Given the description of an element on the screen output the (x, y) to click on. 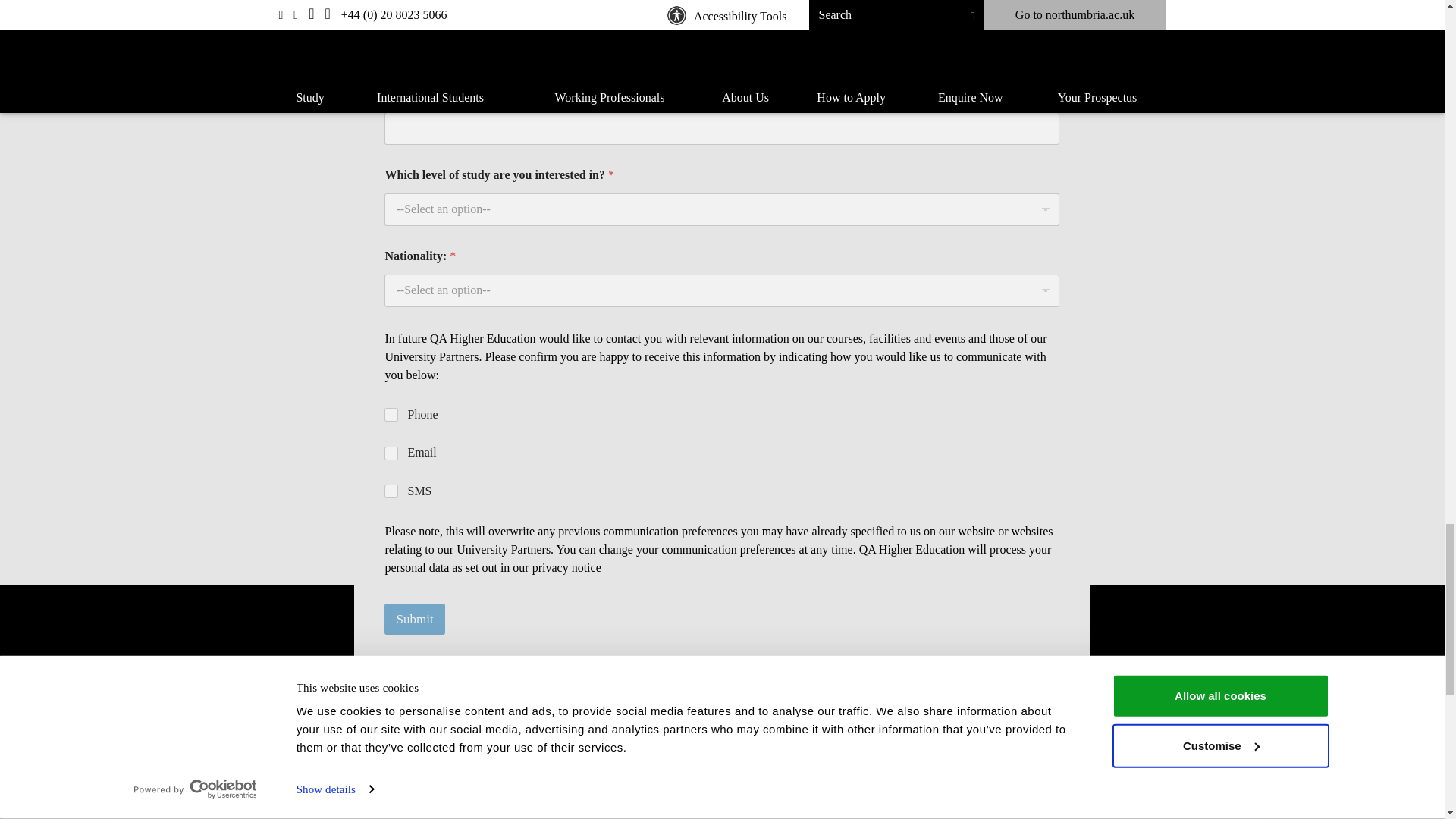
Phone (391, 415)
Email (391, 453)
SMS (391, 491)
